Given the description of an element on the screen output the (x, y) to click on. 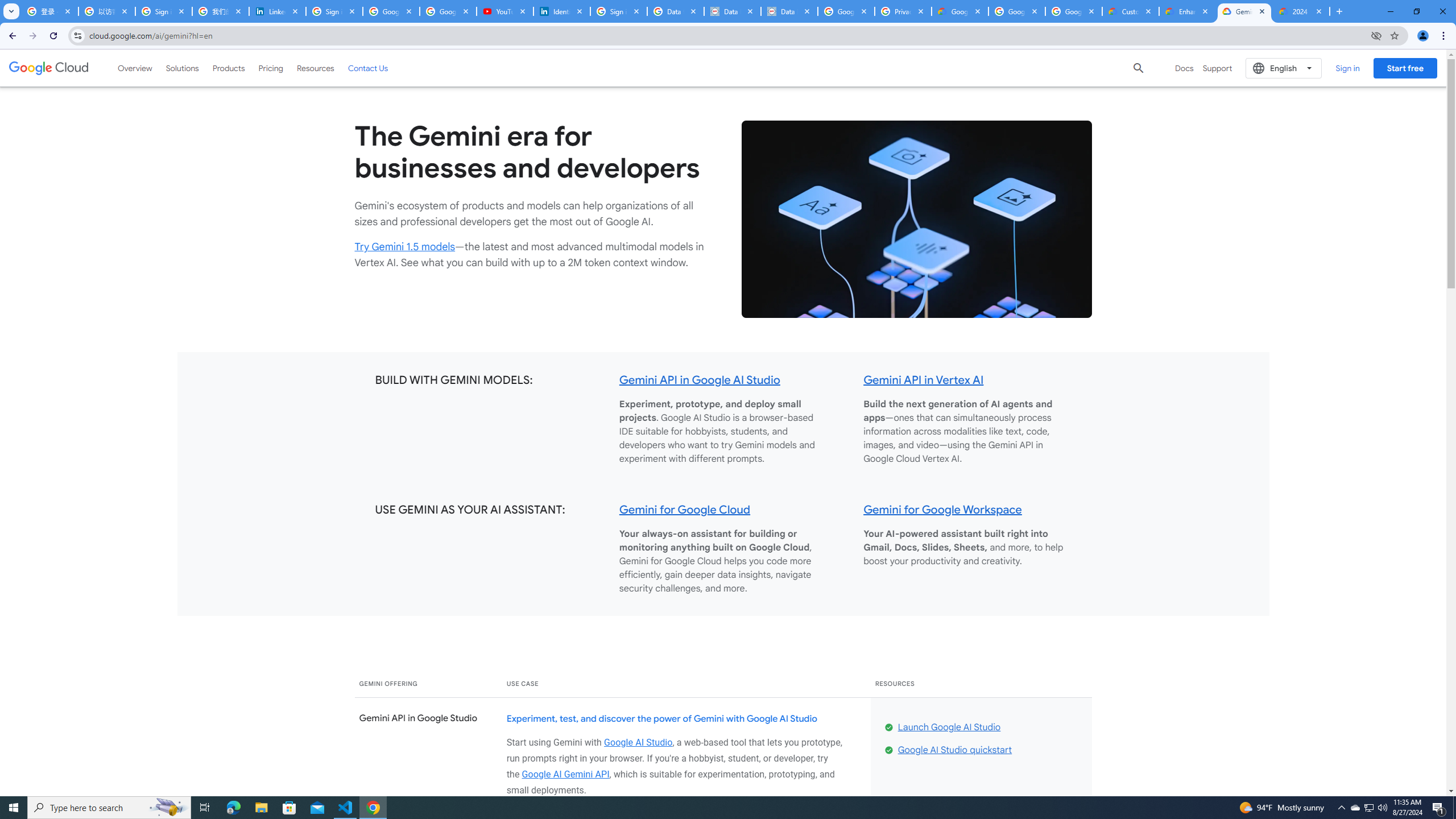
Gemini API in Vertex AI (923, 379)
Products (228, 67)
Google AI Studio (638, 741)
Data Privacy Framework (788, 11)
Launch Google AI Studio (948, 727)
LinkedIn Privacy Policy (277, 11)
Google Workspace - Specific Terms (1015, 11)
